Given the description of an element on the screen output the (x, y) to click on. 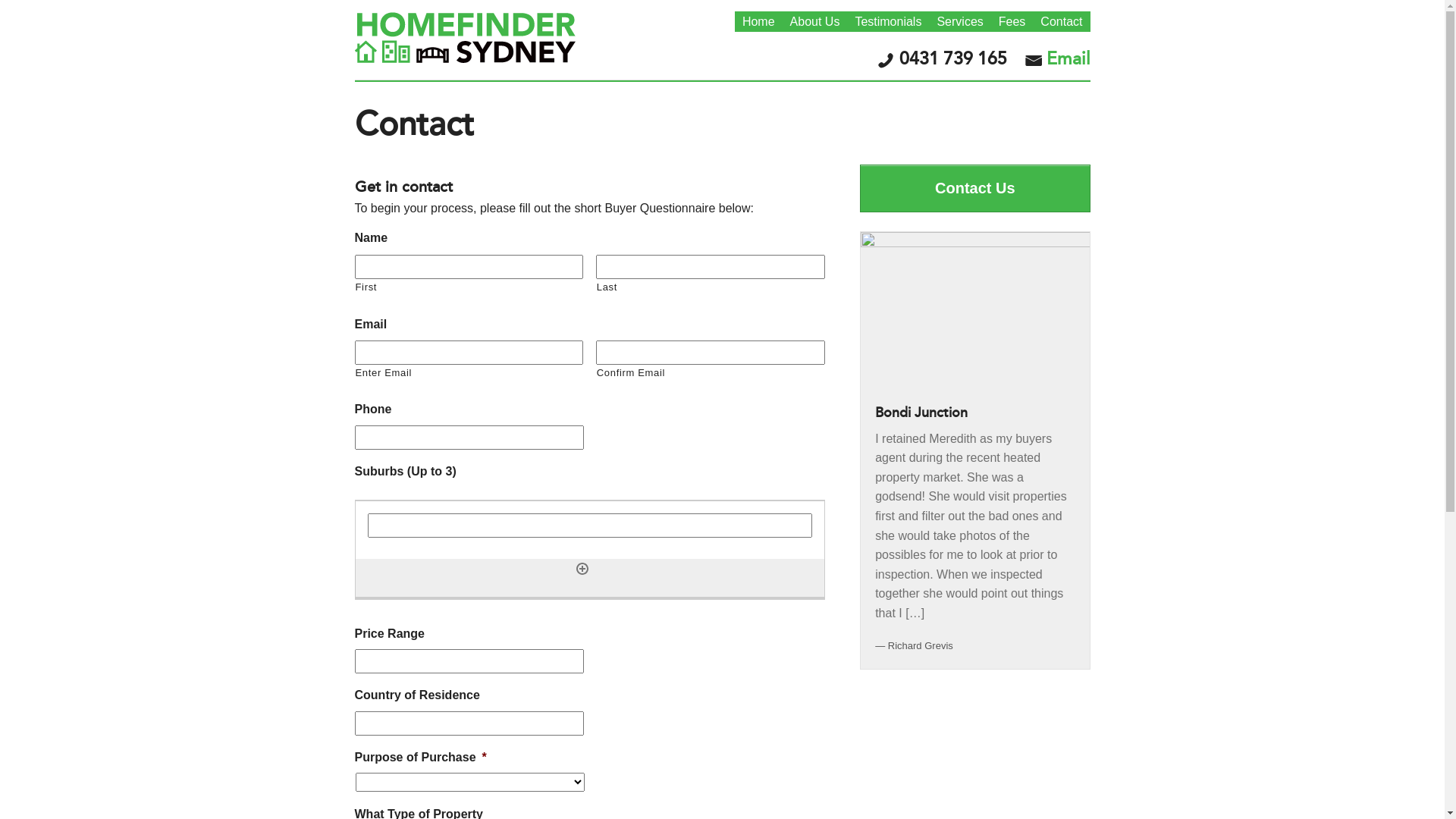
Fees Element type: text (1012, 21)
Contact Us Element type: text (974, 188)
About Us Element type: text (814, 21)
Home Element type: text (758, 21)
Email Element type: text (1068, 58)
Testimonials Element type: text (887, 21)
Contact Element type: text (1060, 21)
Services Element type: text (959, 21)
Add a new row Element type: hover (582, 568)
